Given the description of an element on the screen output the (x, y) to click on. 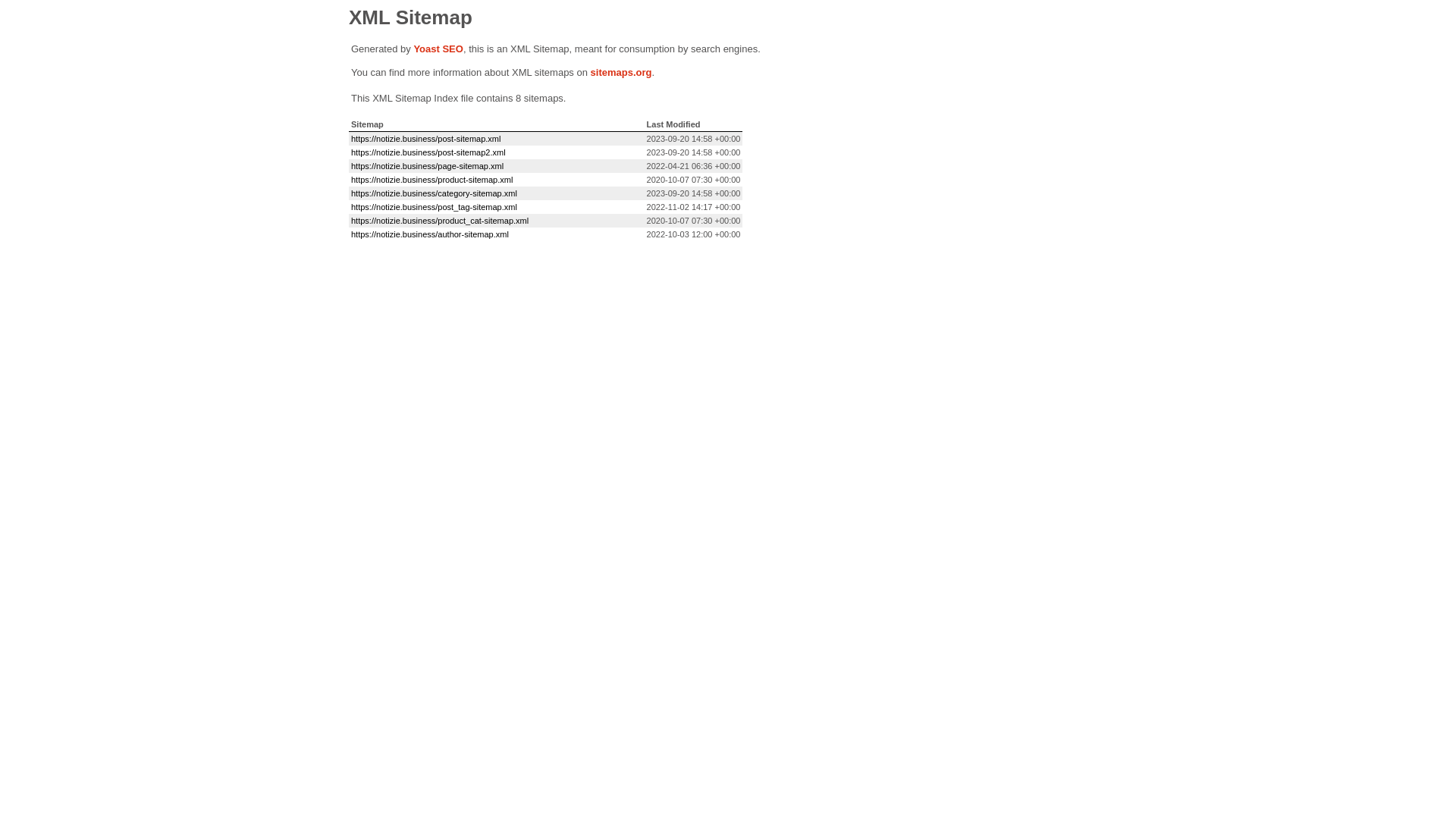
sitemaps.org Element type: text (621, 72)
https://notizie.business/post_tag-sitemap.xml Element type: text (434, 206)
https://notizie.business/category-sitemap.xml Element type: text (434, 192)
Yoast SEO Element type: text (438, 48)
https://notizie.business/product-sitemap.xml Element type: text (431, 179)
https://notizie.business/author-sitemap.xml Element type: text (429, 233)
https://notizie.business/post-sitemap2.xml Element type: text (428, 151)
https://notizie.business/page-sitemap.xml Element type: text (427, 165)
https://notizie.business/product_cat-sitemap.xml Element type: text (439, 220)
https://notizie.business/post-sitemap.xml Element type: text (425, 138)
